Given the description of an element on the screen output the (x, y) to click on. 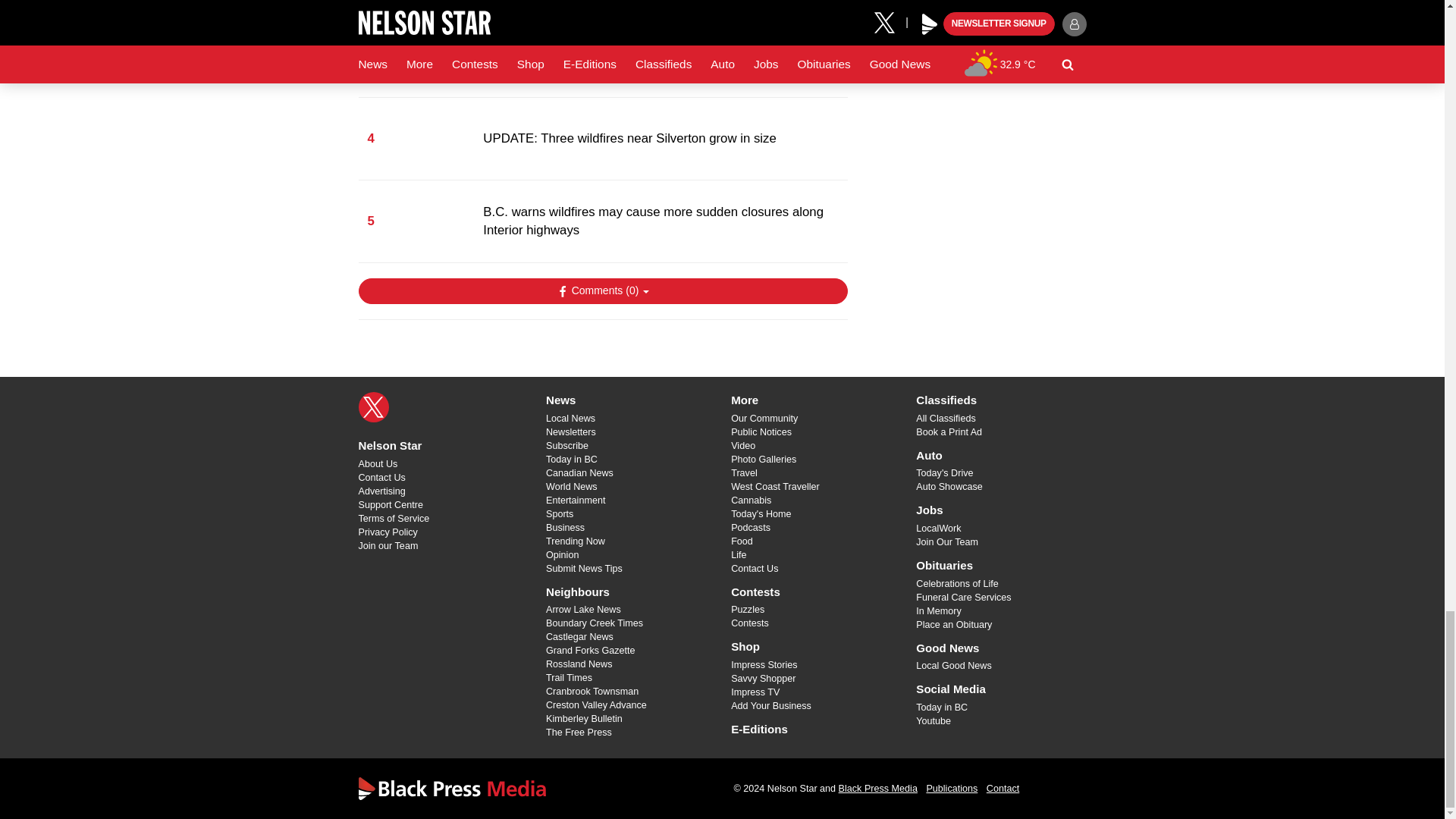
X (373, 407)
Show Comments (602, 290)
